Given the description of an element on the screen output the (x, y) to click on. 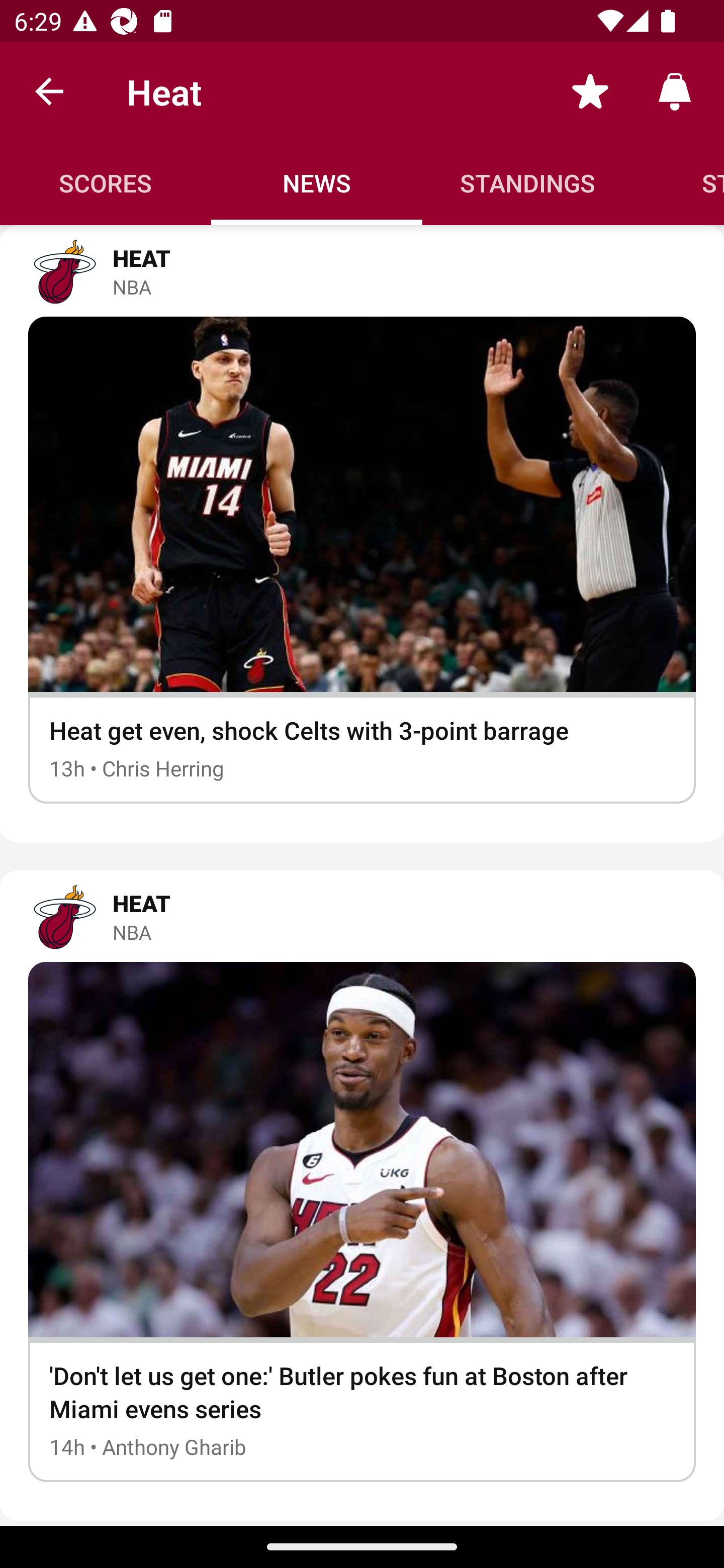
back.button (49, 90)
Favorite toggle (590, 90)
Alerts (674, 90)
Scores SCORES (105, 183)
Standings STANDINGS (527, 183)
HEAT NBA (362, 270)
HEAT NBA (362, 915)
